Given the description of an element on the screen output the (x, y) to click on. 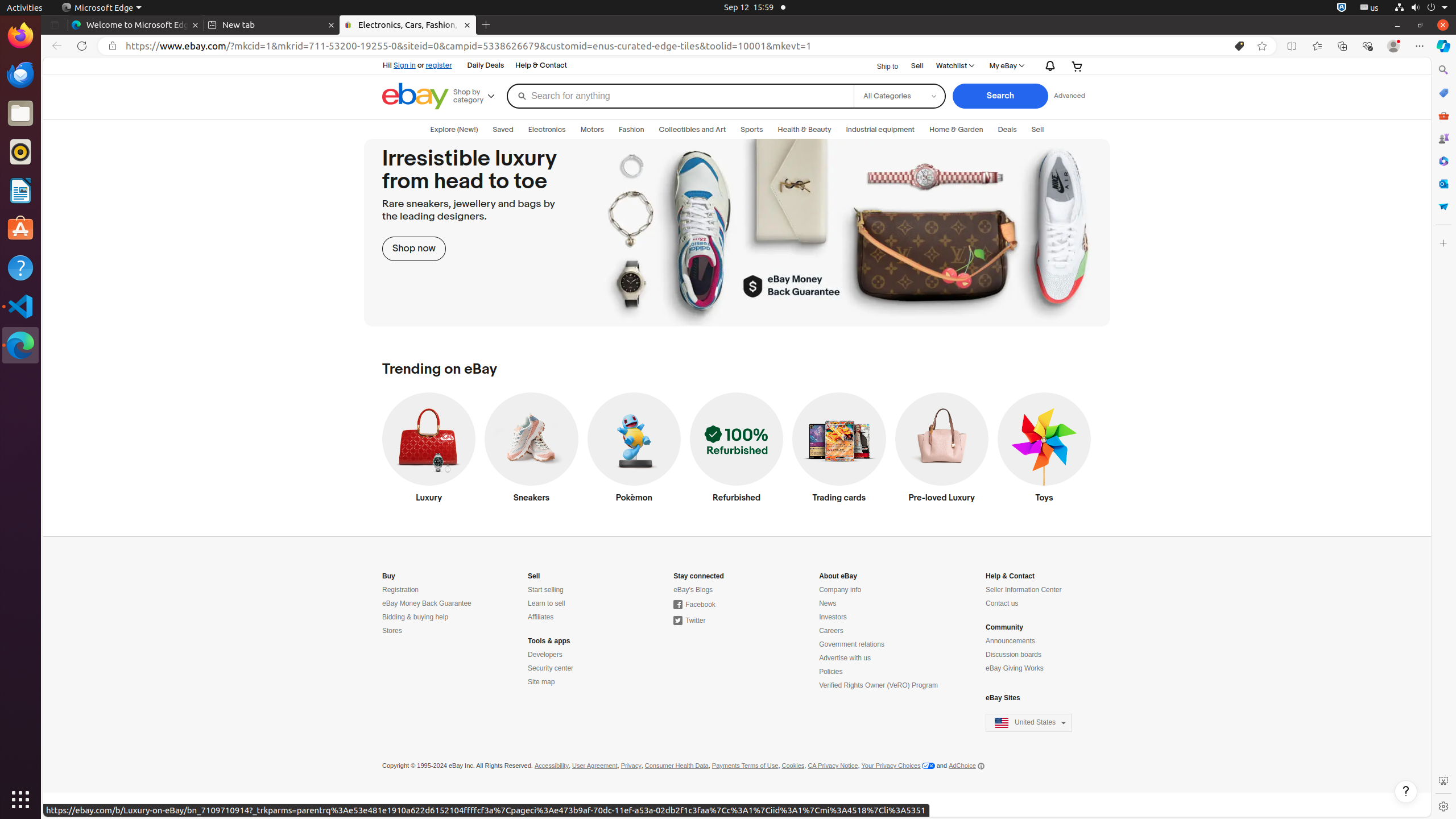
Microsoft Edge Element type: push-button (20, 344)
Help Element type: push-button (20, 267)
Discussion boards Element type: link (1013, 654)
Saved Element type: link (502, 129)
Pokèmon Element type: link (633, 450)
